Given the description of an element on the screen output the (x, y) to click on. 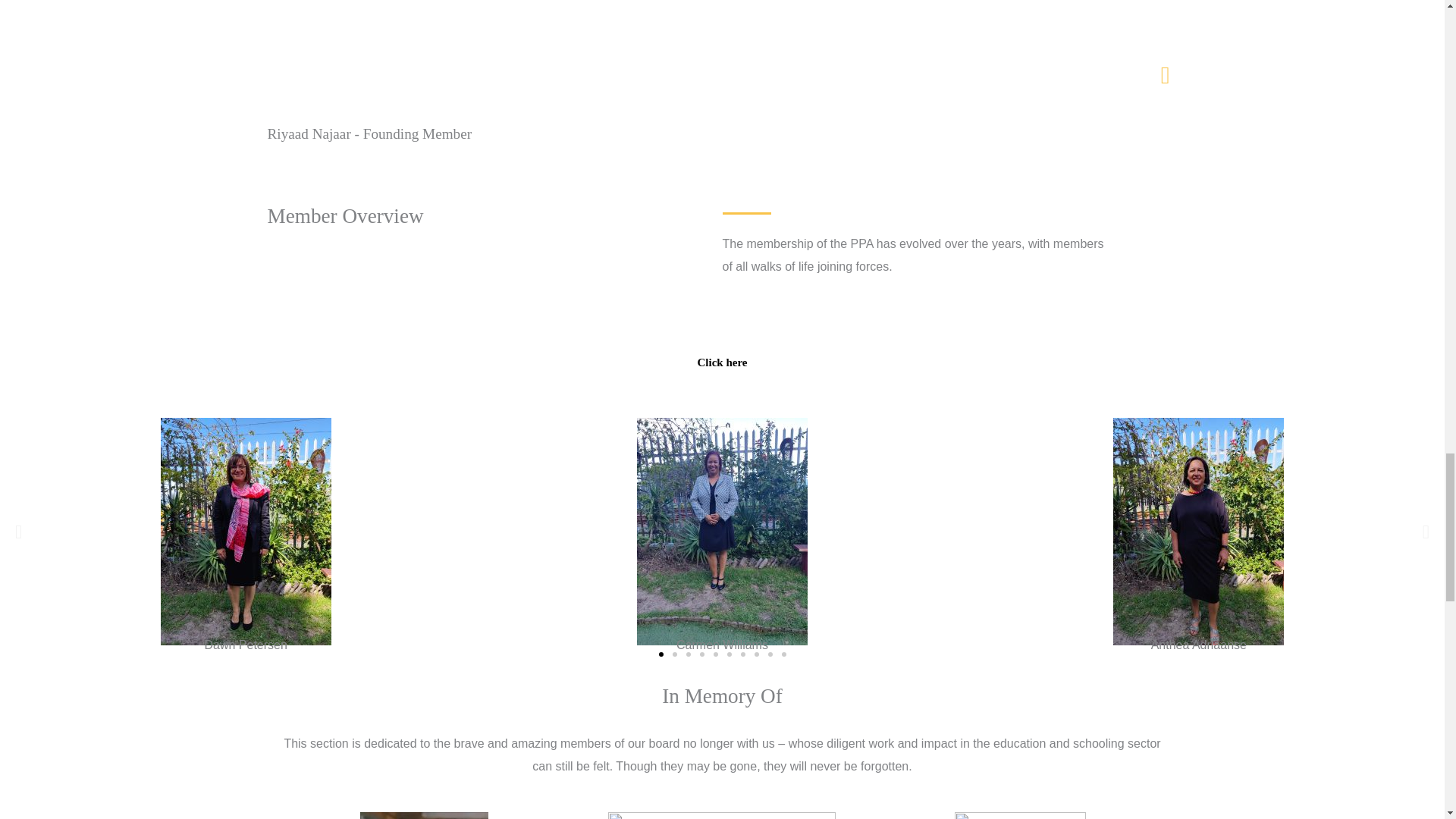
Click here (722, 362)
